Given the description of an element on the screen output the (x, y) to click on. 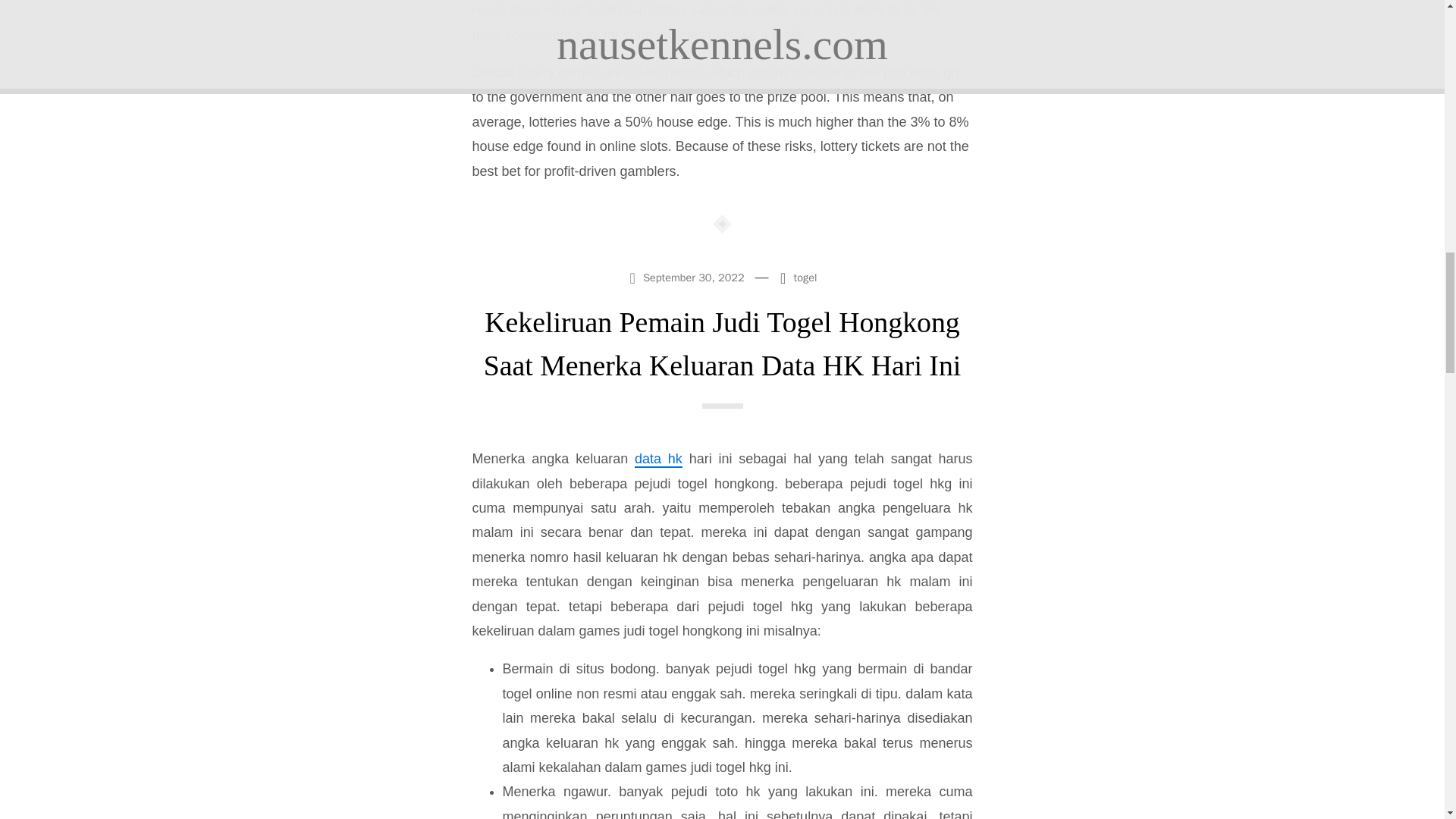
September 30, 2022 (687, 276)
togel (804, 277)
data hk (658, 459)
